Given the description of an element on the screen output the (x, y) to click on. 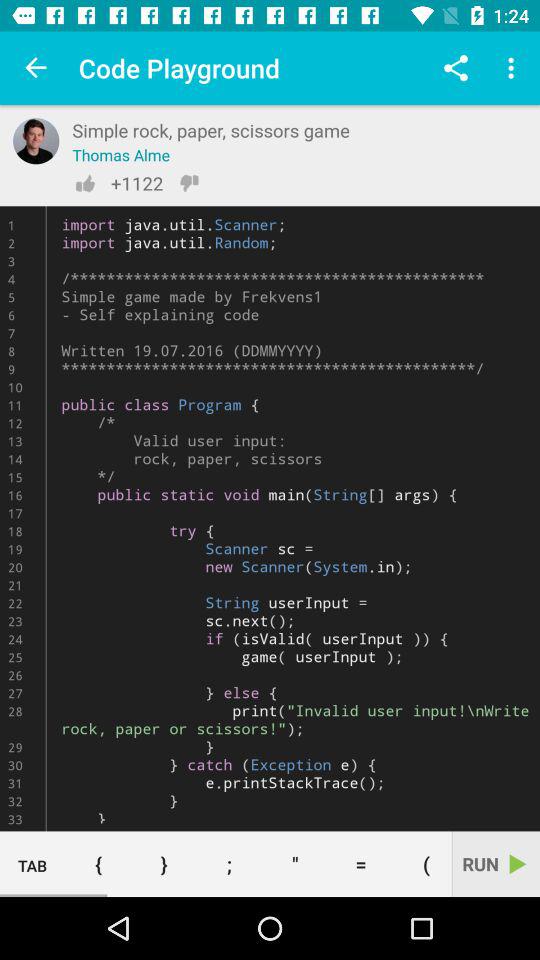
like (85, 183)
